Given the description of an element on the screen output the (x, y) to click on. 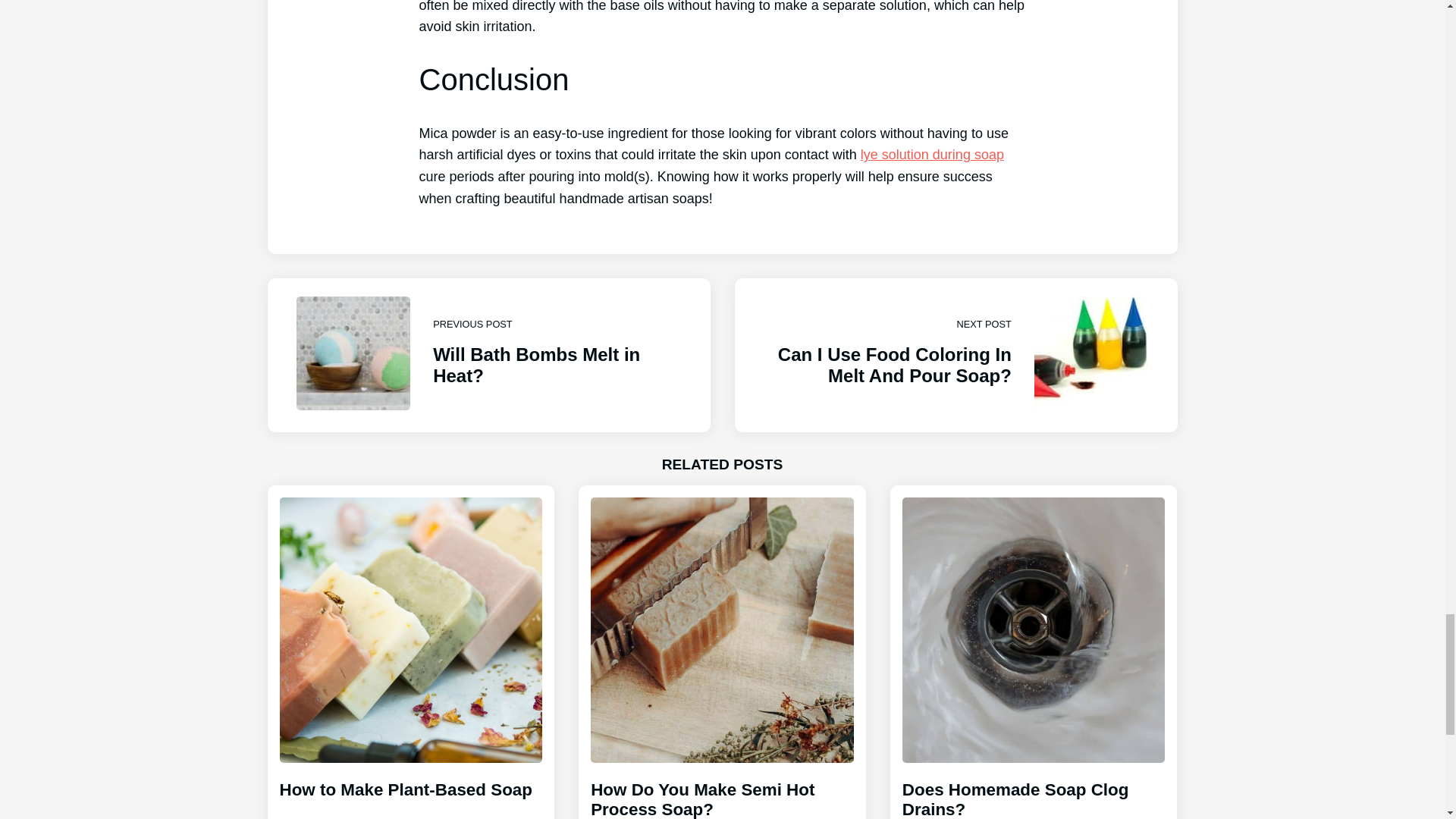
How Do You Make Semi Hot Process Soap? (722, 785)
How to Make Plant-Based Soap (410, 785)
Does Homemade Soap Clog Drains? (954, 355)
lye solution during soap (488, 355)
